Given the description of an element on the screen output the (x, y) to click on. 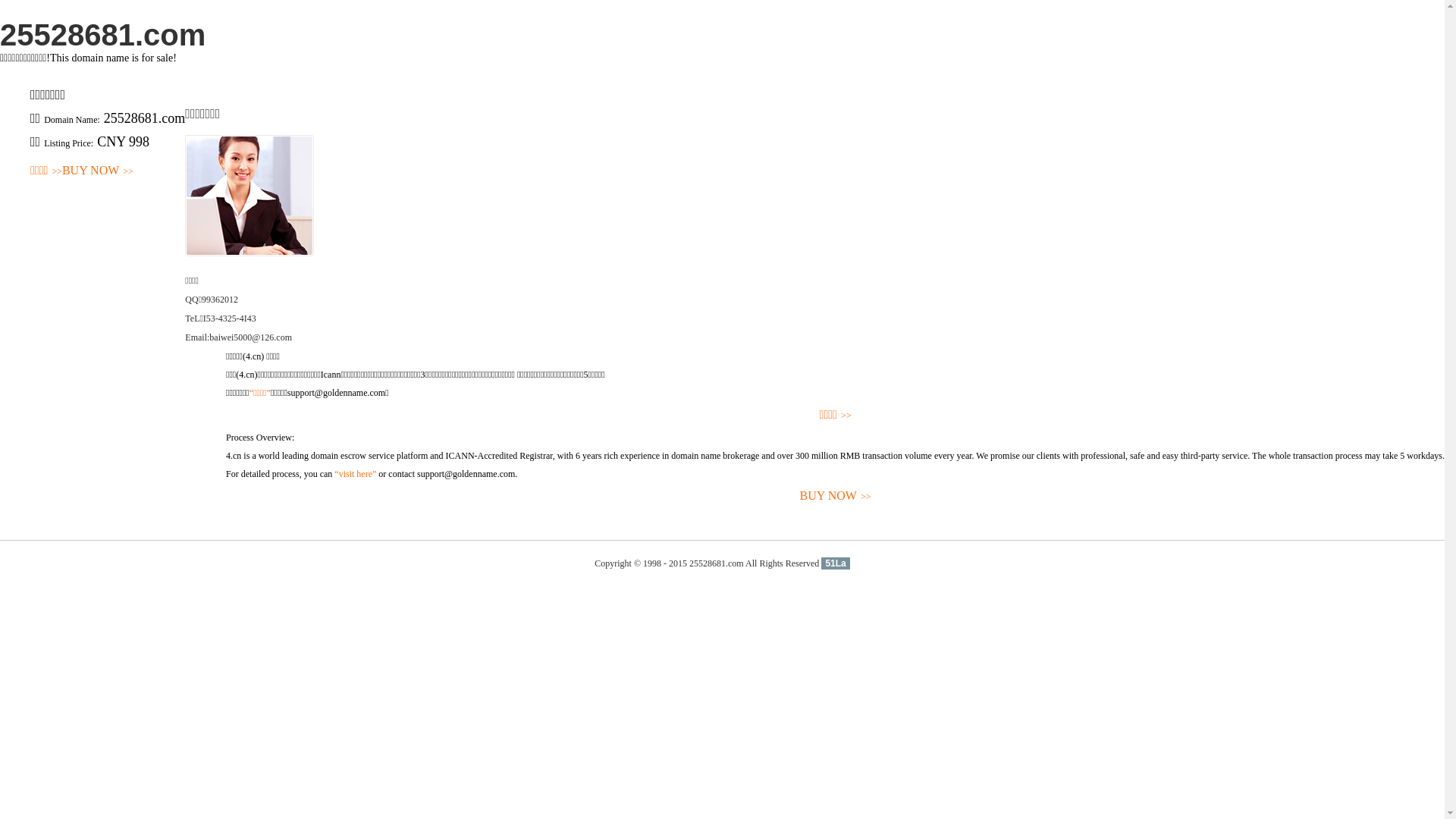
BUY NOW>> Element type: text (97, 170)
BUY NOW>> Element type: text (834, 496)
51La Element type: text (835, 563)
